Given the description of an element on the screen output the (x, y) to click on. 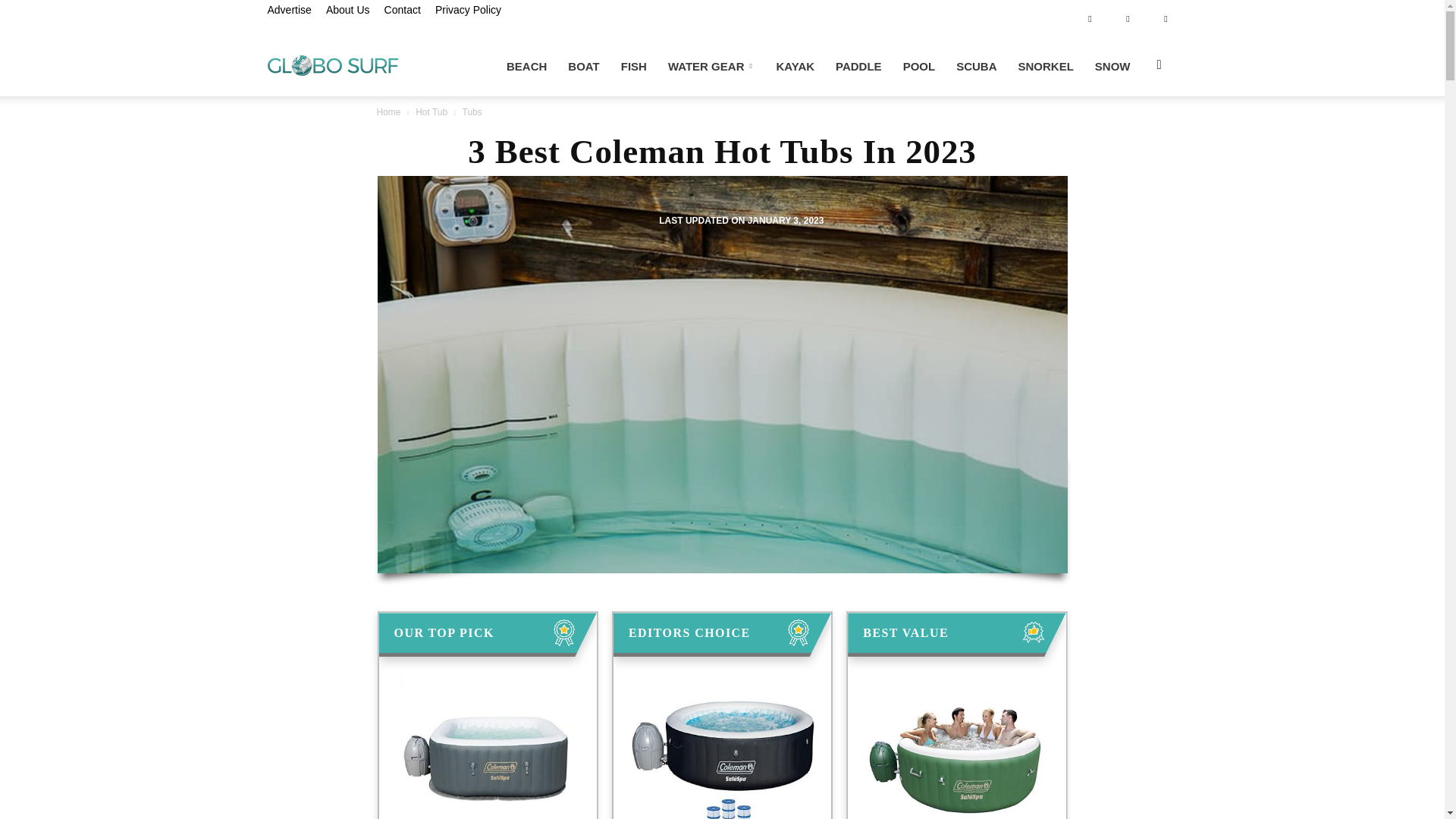
Advertise (288, 9)
About Us (347, 9)
Privacy Policy (467, 9)
Contact (402, 9)
WATER GEAR (711, 66)
View all posts in Hot Tub (431, 112)
View all posts in Tubs (472, 112)
BEACH (526, 66)
Globo Surf (331, 64)
